Given the description of an element on the screen output the (x, y) to click on. 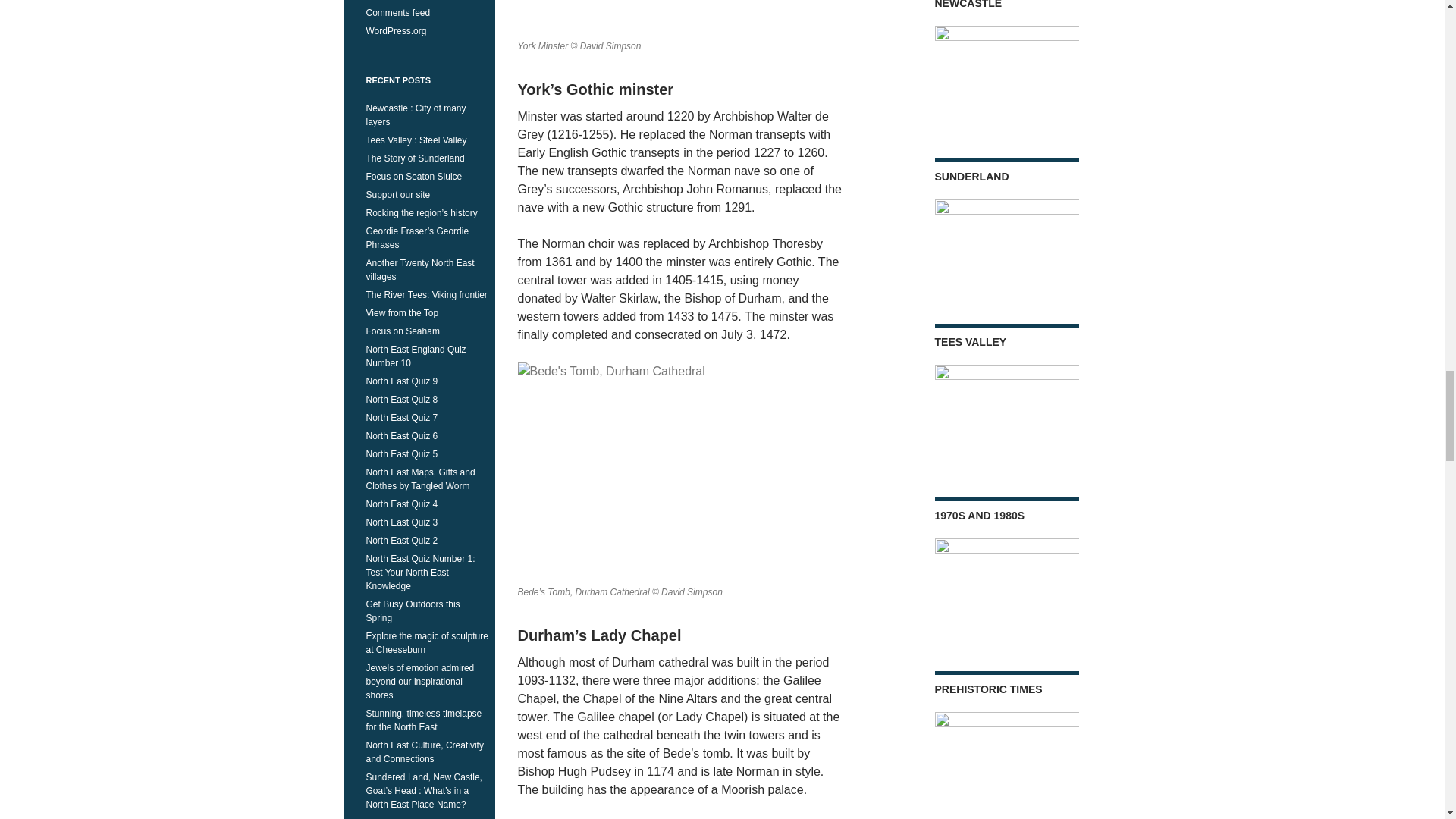
Prehistoric Times (1006, 759)
